Given the description of an element on the screen output the (x, y) to click on. 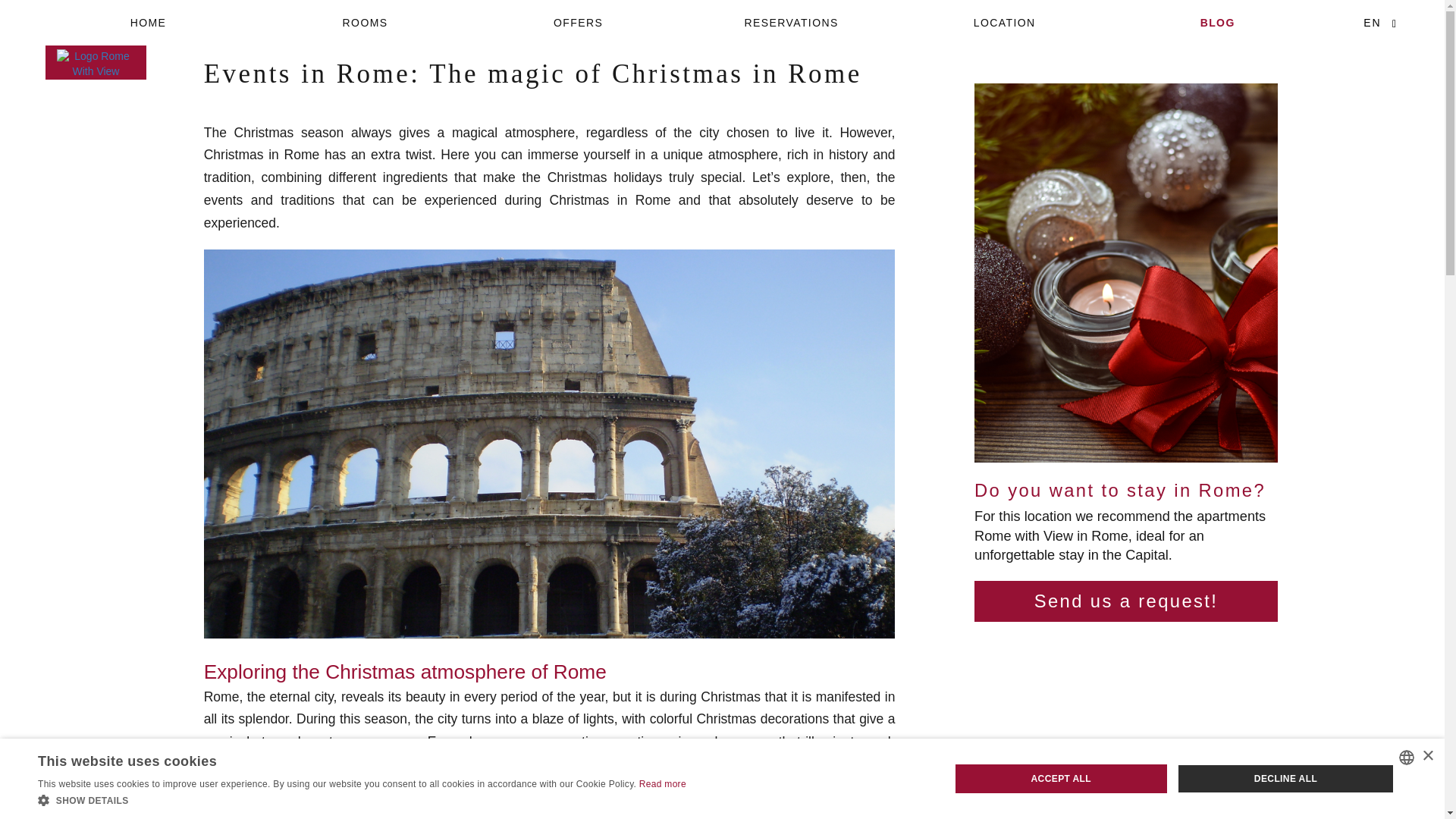
Read more (662, 783)
Rome With View - Official Site (152, 22)
ROOMS (365, 22)
Rome With View Location (1004, 22)
HOME (152, 22)
EN (1372, 23)
ROOMS (365, 22)
LOCATION (1004, 22)
Rome With View Offers (577, 22)
RESERVATIONS (791, 22)
RESERVATIONS (791, 22)
Book at Rome With View in Rome (791, 22)
BLOG (1216, 22)
OFFERS (577, 22)
Send us a request! (1126, 600)
